Given the description of an element on the screen output the (x, y) to click on. 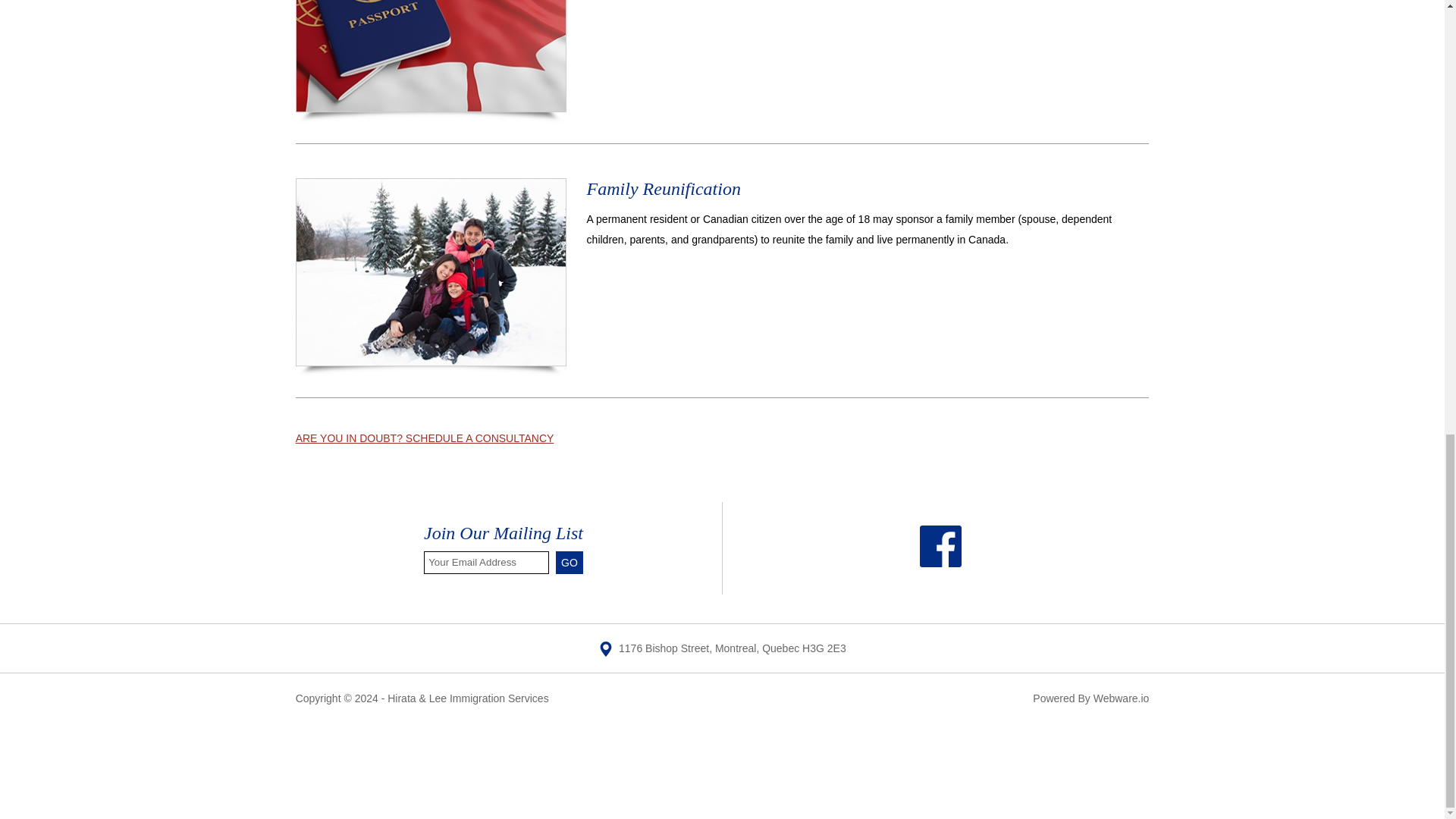
GO (569, 562)
Your email address (485, 562)
1176 Bishop Street, Montreal, Quebec H3G 2E3 (721, 647)
ARE YOU IN DOUBT? SCHEDULE A CONSULTANCY (424, 438)
Webware.io (1121, 698)
GO (569, 562)
